Given the description of an element on the screen output the (x, y) to click on. 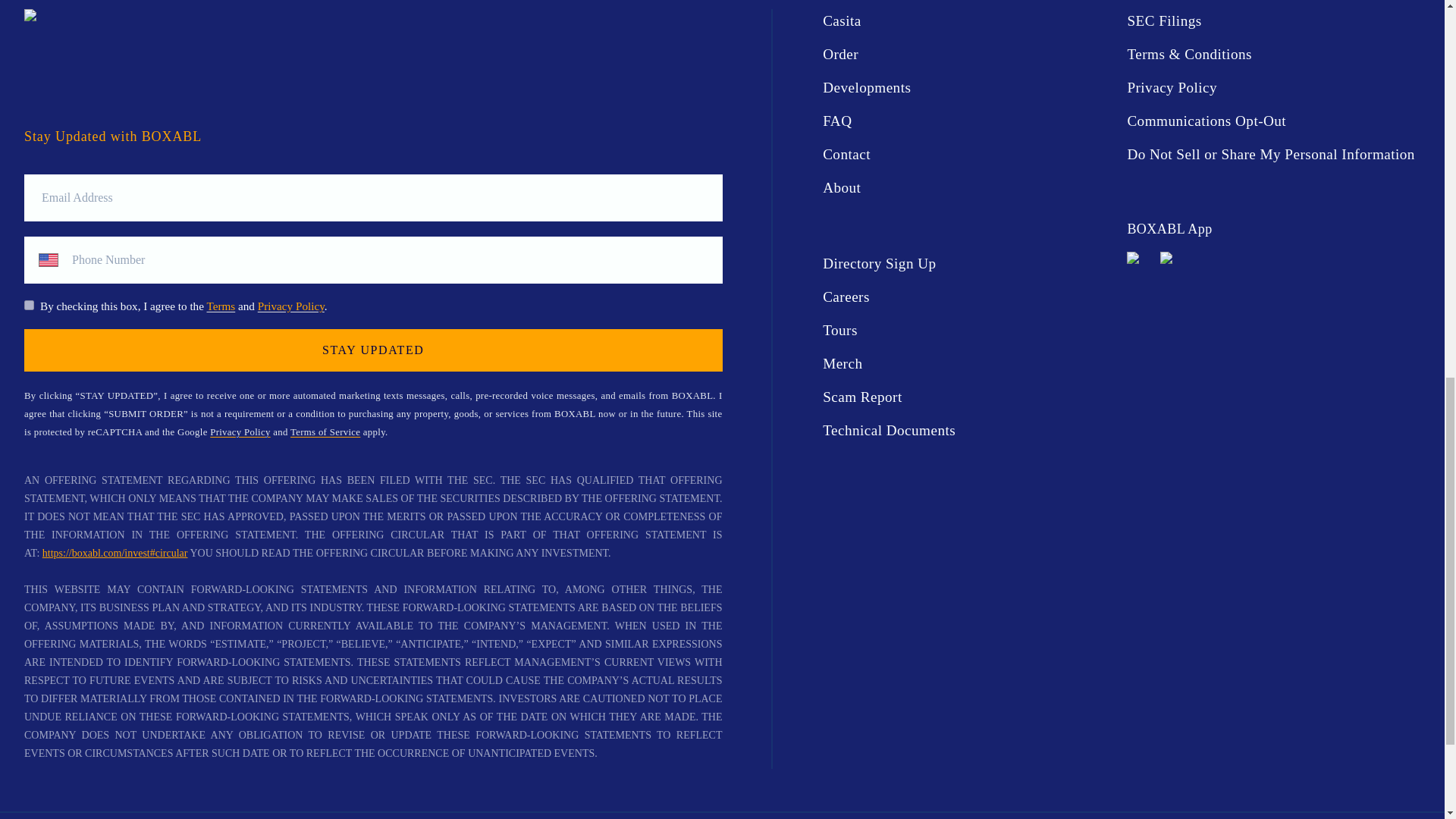
Privacy Policy (239, 431)
on (28, 305)
Technical Documents (967, 430)
Communications Opt-Out (1272, 120)
SEC Filings (1272, 21)
Terms (220, 305)
Directory Sign Up (967, 263)
Developments (967, 87)
Scam Report (967, 396)
Casita (967, 21)
Privacy Policy (1272, 87)
Careers (967, 297)
Do Not Sell or Share My Personal Information (1272, 154)
Contact (967, 154)
Tours (967, 330)
